Given the description of an element on the screen output the (x, y) to click on. 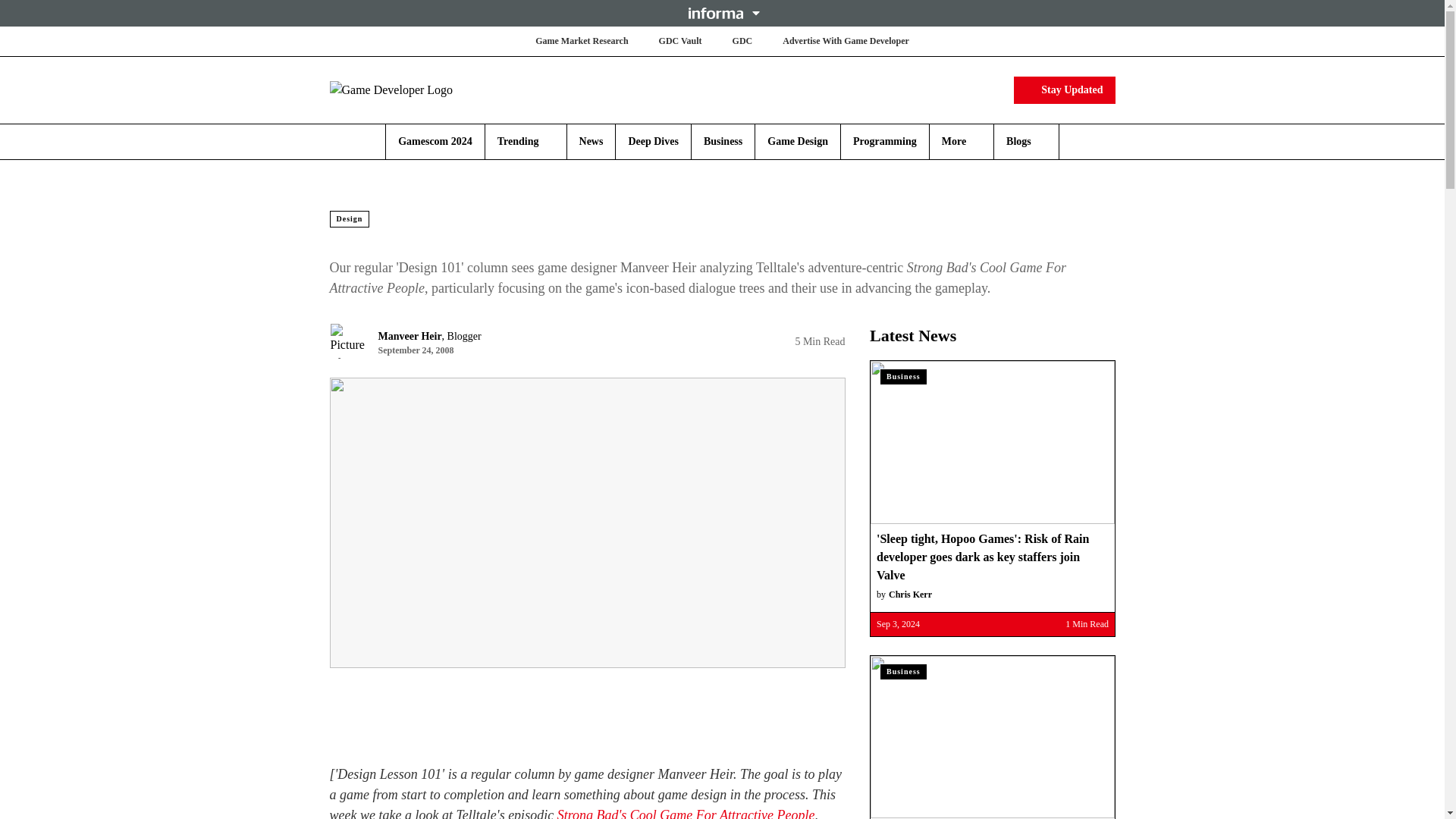
Game Market Research (581, 41)
Picture of Manveer Heir (347, 340)
Game Developer Logo (419, 90)
GDC (742, 41)
Stay Updated (1064, 89)
Business (722, 141)
GDC Vault (680, 41)
Game Design (797, 141)
Deep Dives (652, 141)
Programming (885, 141)
